Given the description of an element on the screen output the (x, y) to click on. 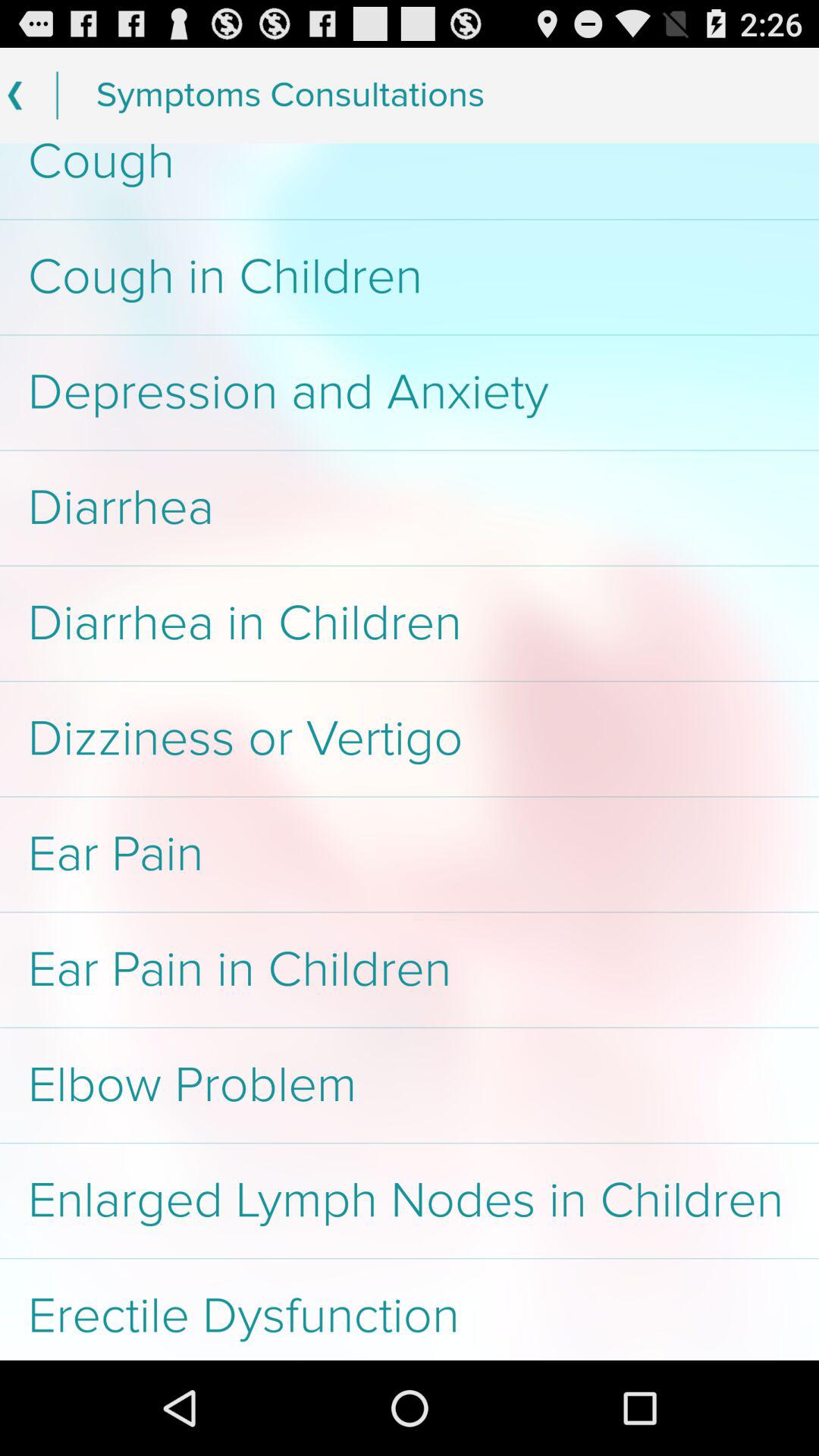
jump to the elbow problem (409, 1085)
